Given the description of an element on the screen output the (x, y) to click on. 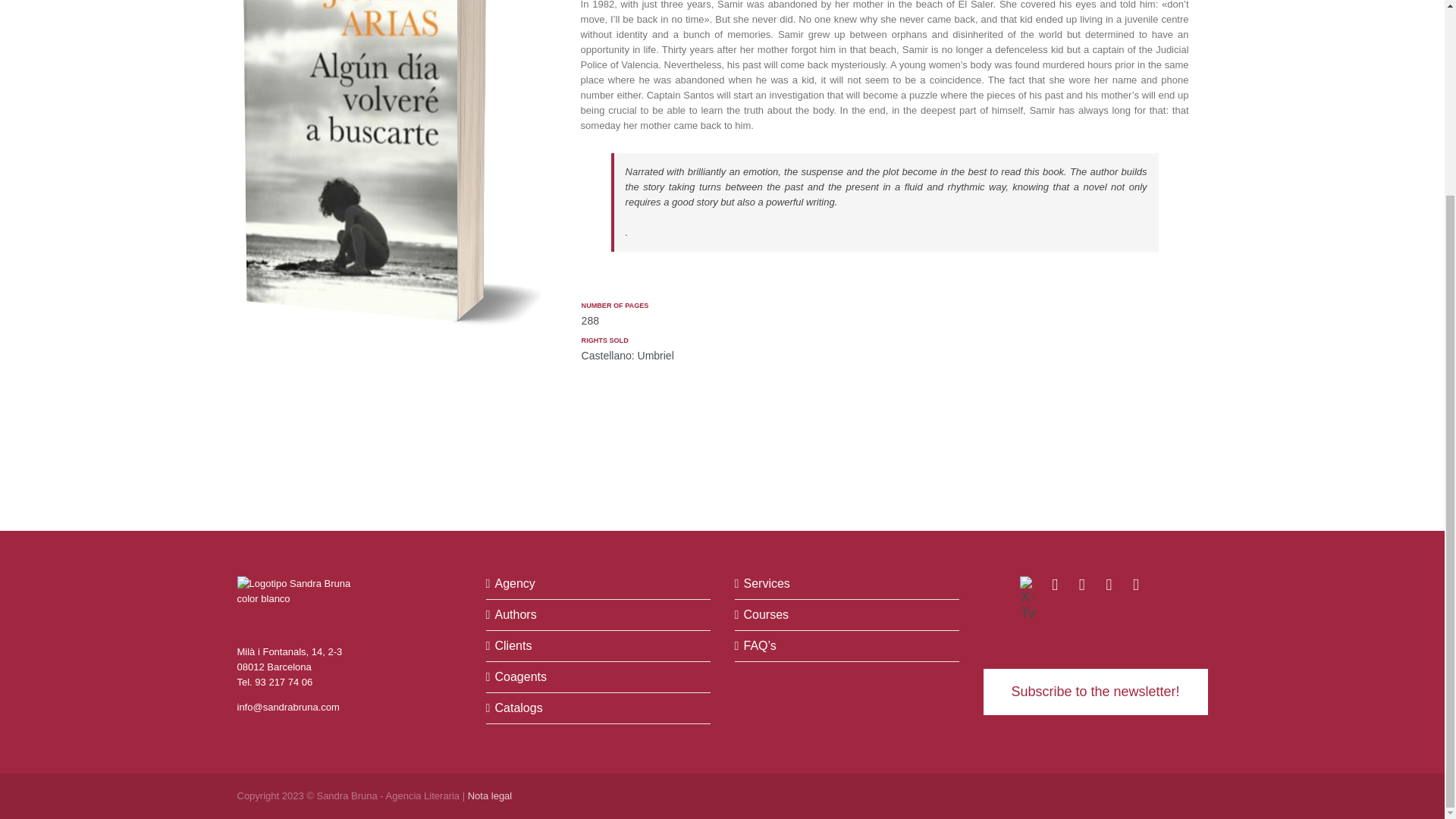
Instagram (1134, 584)
Facebook (1108, 584)
LinkedIn (1054, 584)
YouTube (1081, 584)
